Given the description of an element on the screen output the (x, y) to click on. 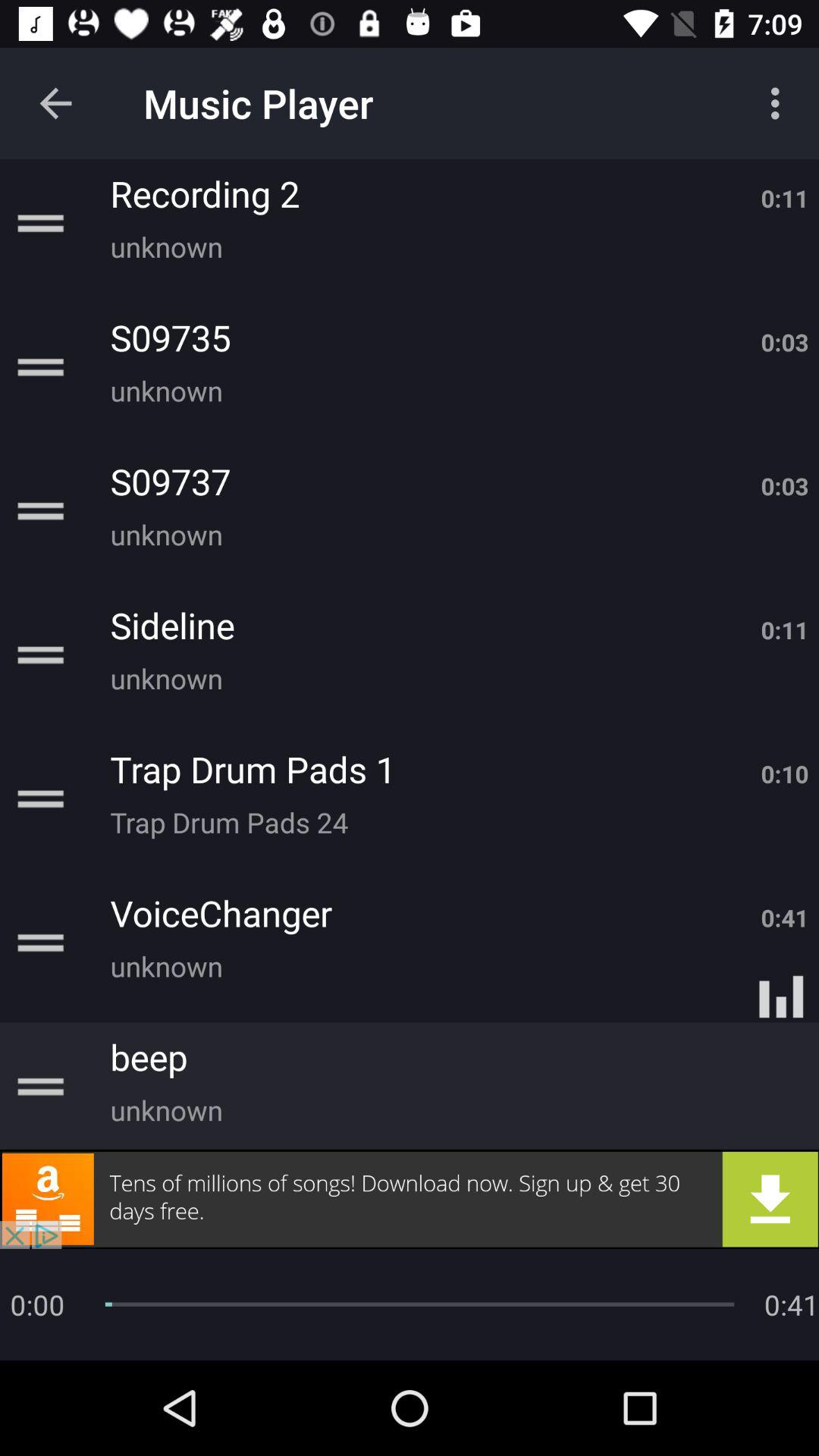
click advertisement (409, 1198)
